Given the description of an element on the screen output the (x, y) to click on. 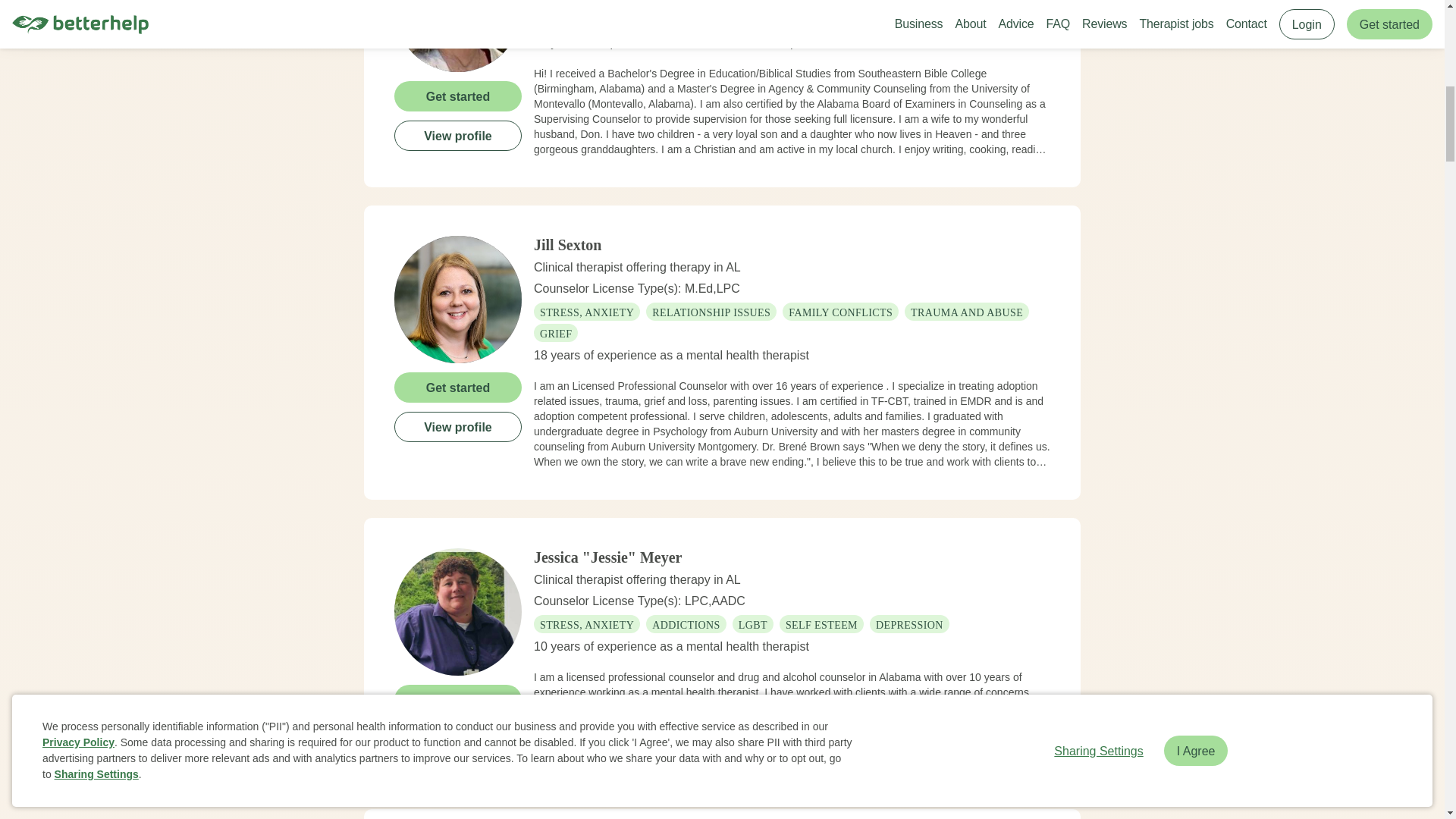
Get started (457, 386)
View profile (457, 426)
View profile (457, 738)
Get started (457, 698)
Click here to view Jill Sexton's profile 1 (457, 298)
Click here to view Jessica "Jessie" Meyer's profile 1 (457, 610)
View profile (457, 134)
Click here to view Judith Wilson's profile 1 (457, 35)
